Given the description of an element on the screen output the (x, y) to click on. 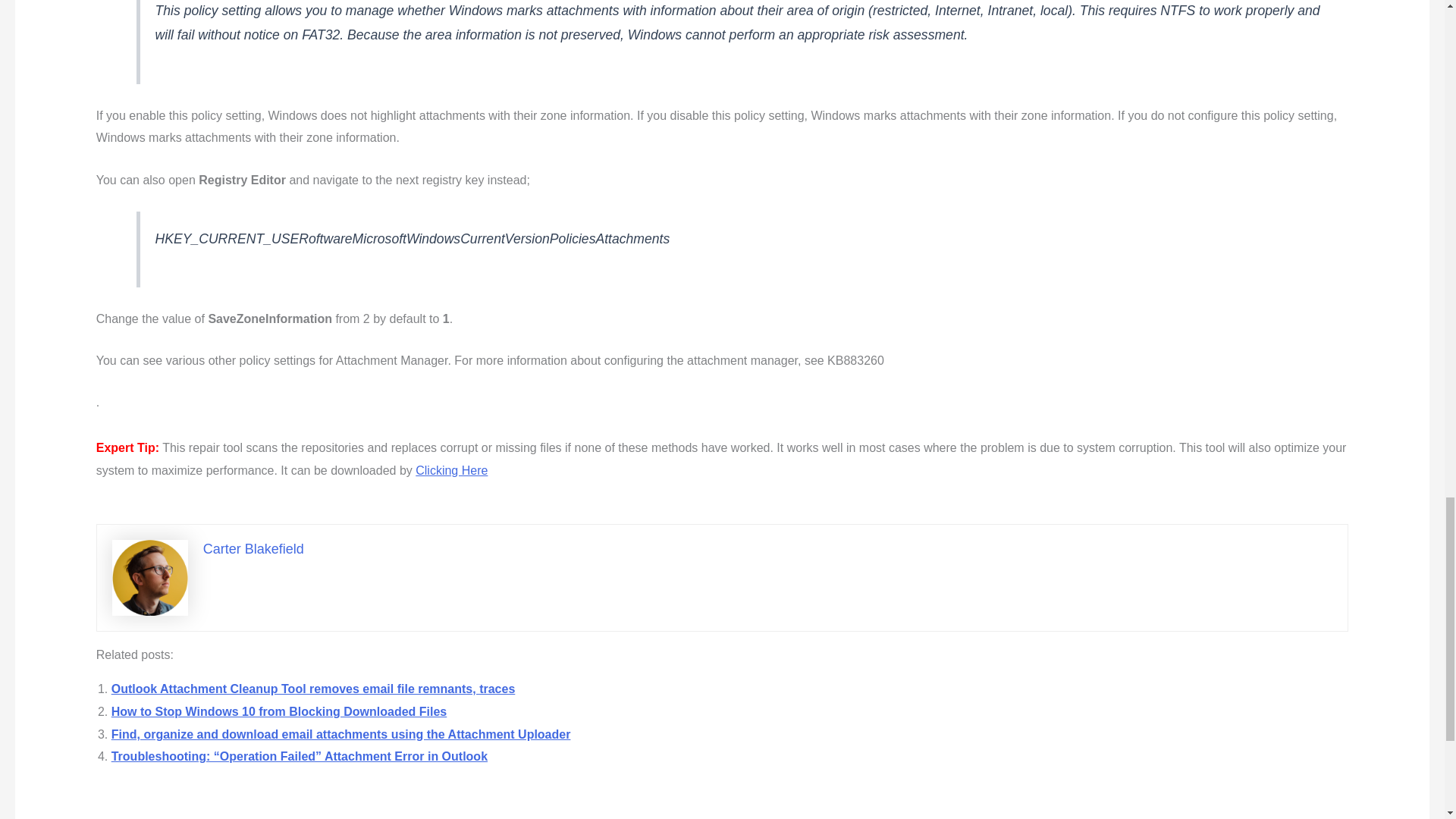
Carter Blakefield (253, 548)
Clicking Here (450, 470)
How to Stop Windows 10 from Blocking Downloaded Files (279, 711)
How to Stop Windows 10 from Blocking Downloaded Files (279, 711)
